Given the description of an element on the screen output the (x, y) to click on. 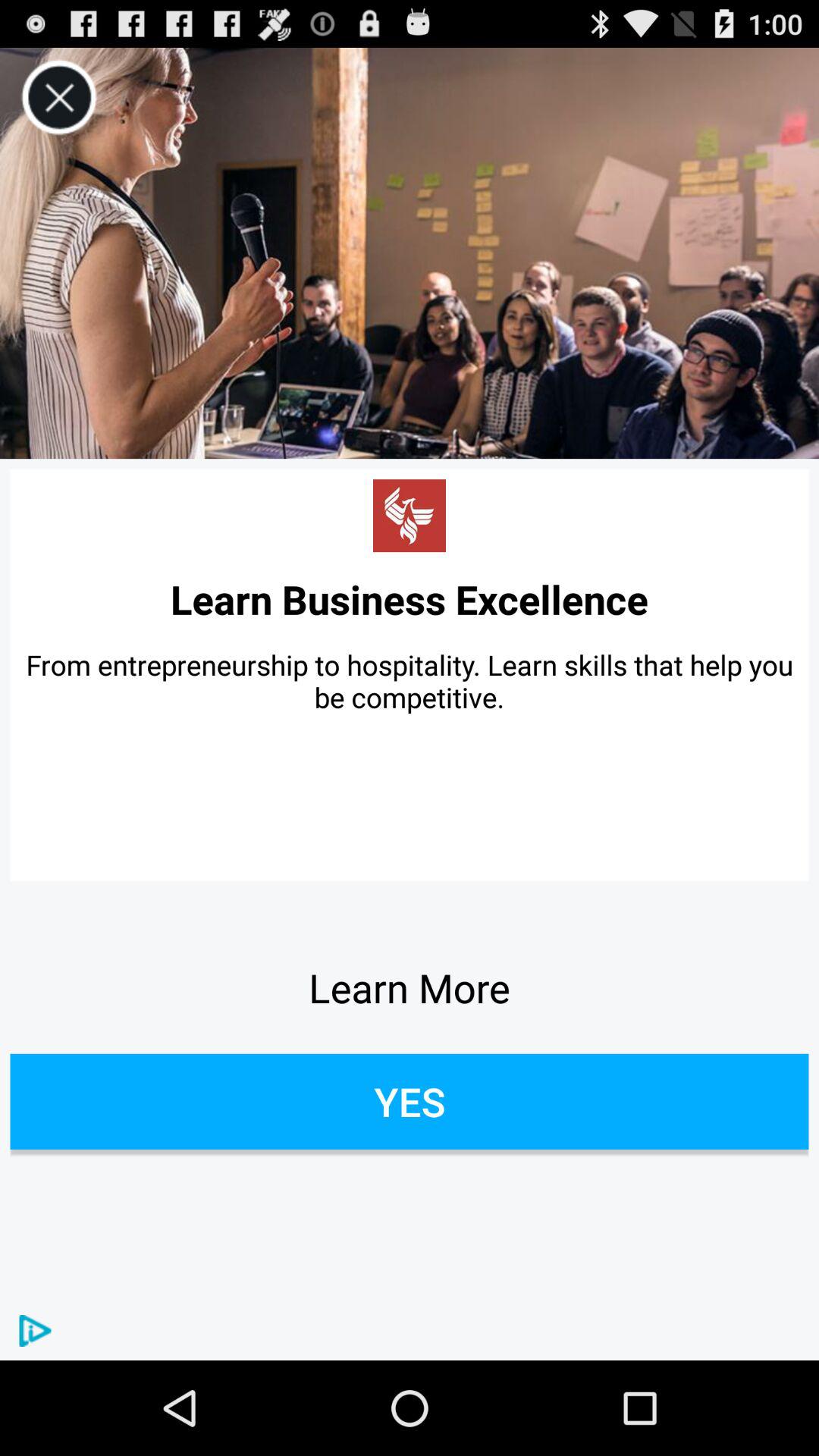
cancel out advertisement (59, 97)
